Given the description of an element on the screen output the (x, y) to click on. 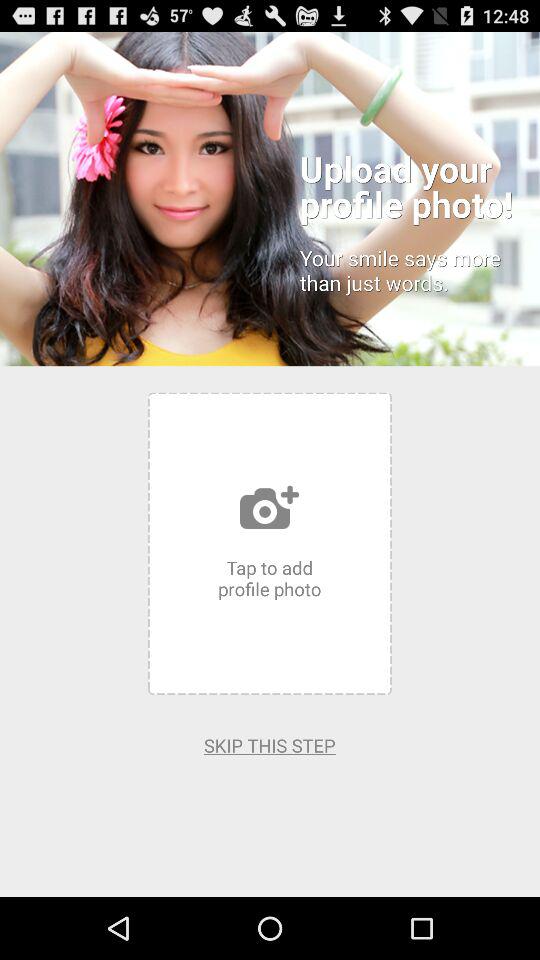
select the skip this step app (269, 745)
